Given the description of an element on the screen output the (x, y) to click on. 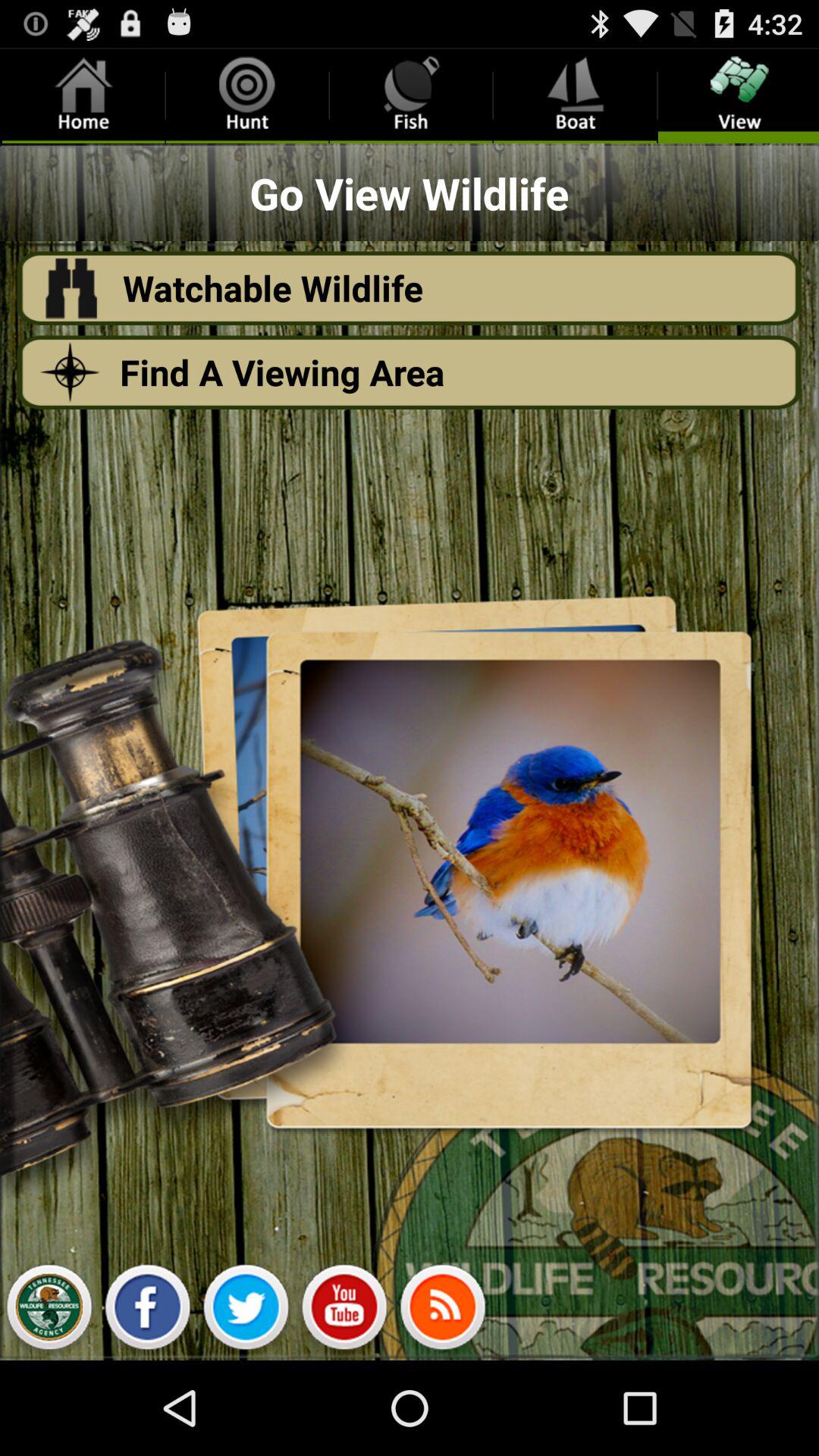
share to youtube (344, 1311)
